Given the description of an element on the screen output the (x, y) to click on. 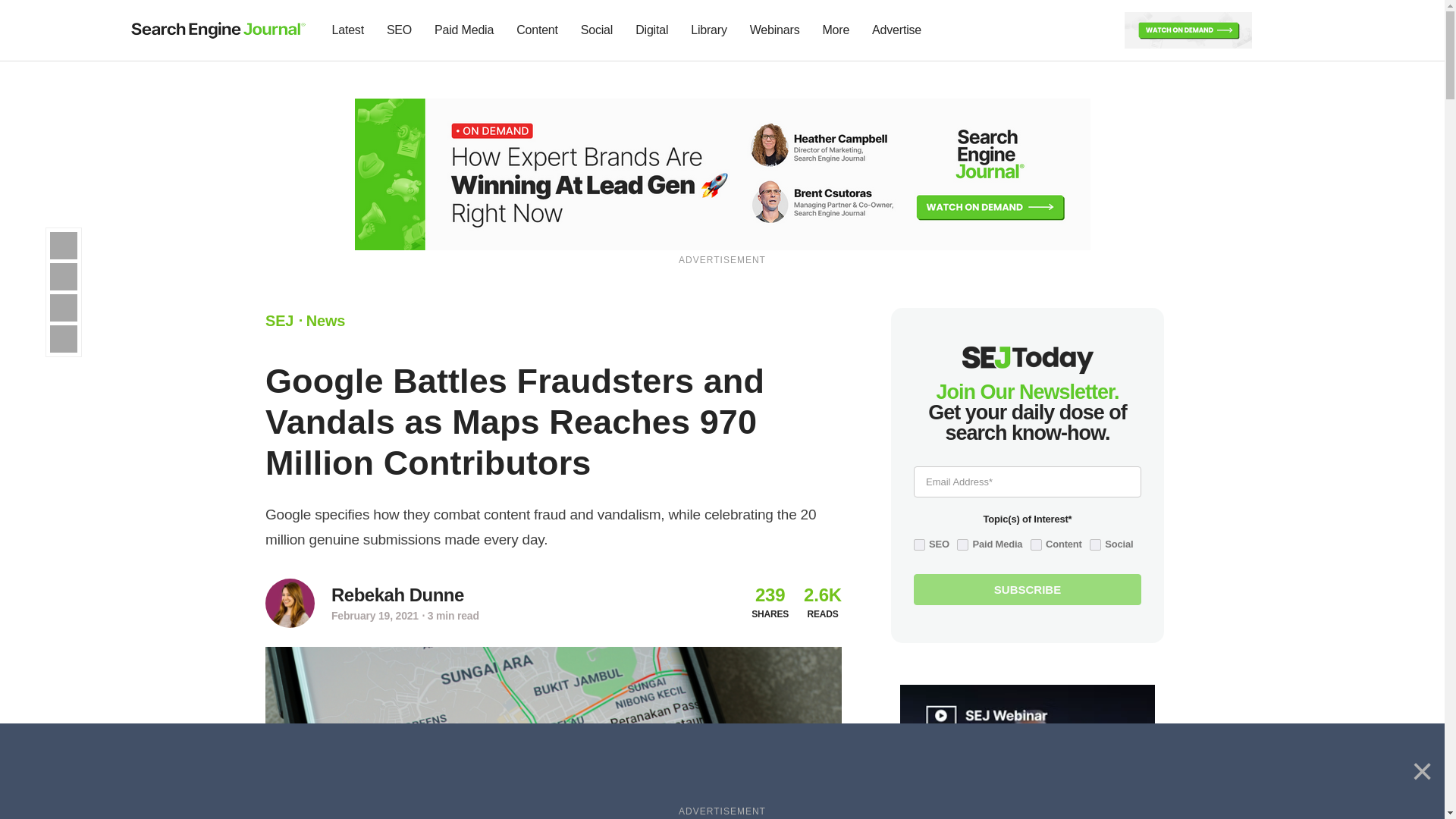
Go to Author Page (289, 603)
Latest (347, 30)
Register Now (1187, 28)
Go to Author Page (397, 594)
Paid Media (464, 30)
Subscribe to our Newsletter (1277, 30)
Register Now (722, 172)
